Given the description of an element on the screen output the (x, y) to click on. 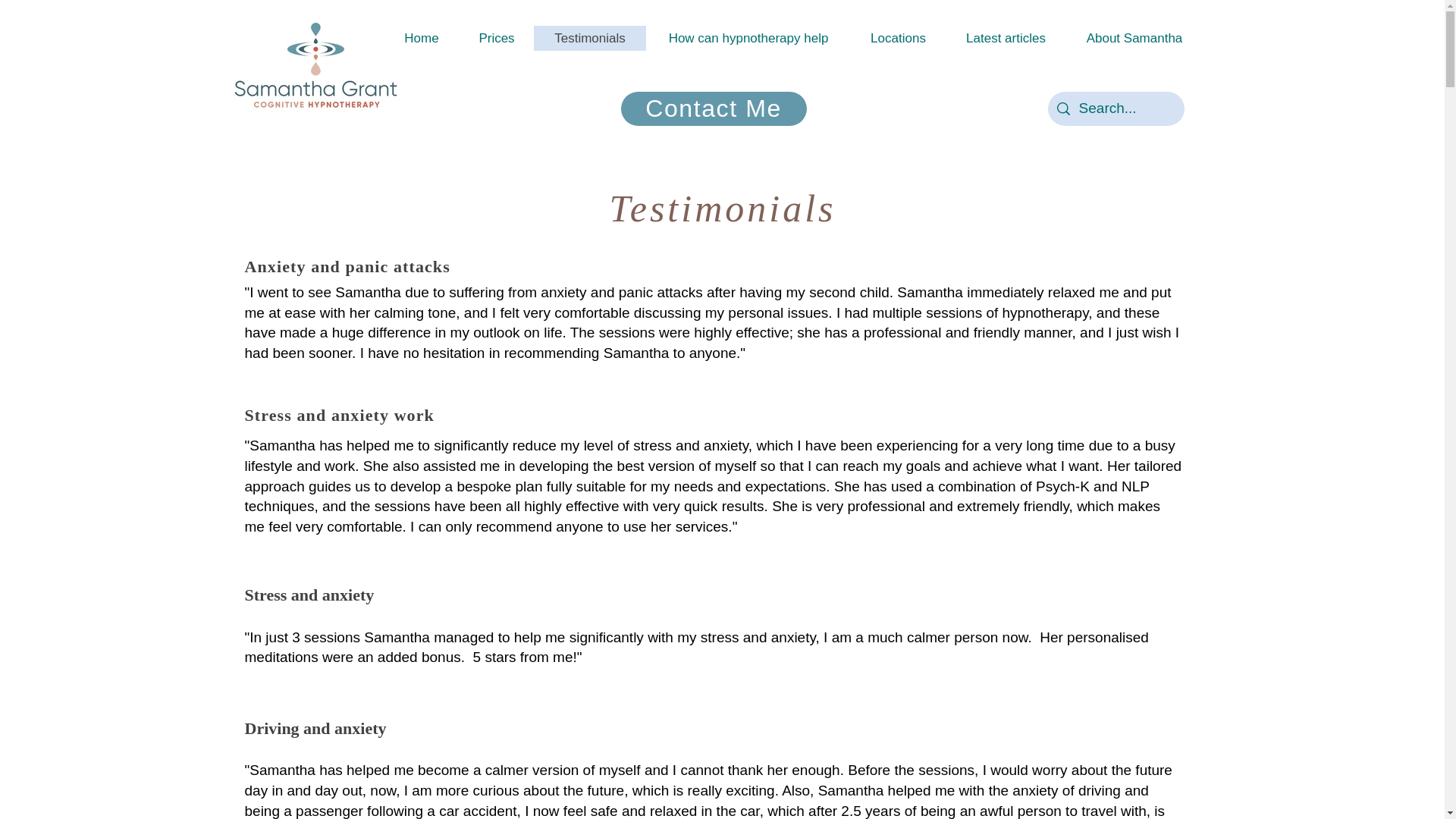
Testimonials (590, 37)
Locations (897, 37)
Latest articles (1004, 37)
Contact Me (713, 108)
Home (421, 37)
About Samantha (1133, 37)
Prices (497, 37)
